Given the description of an element on the screen output the (x, y) to click on. 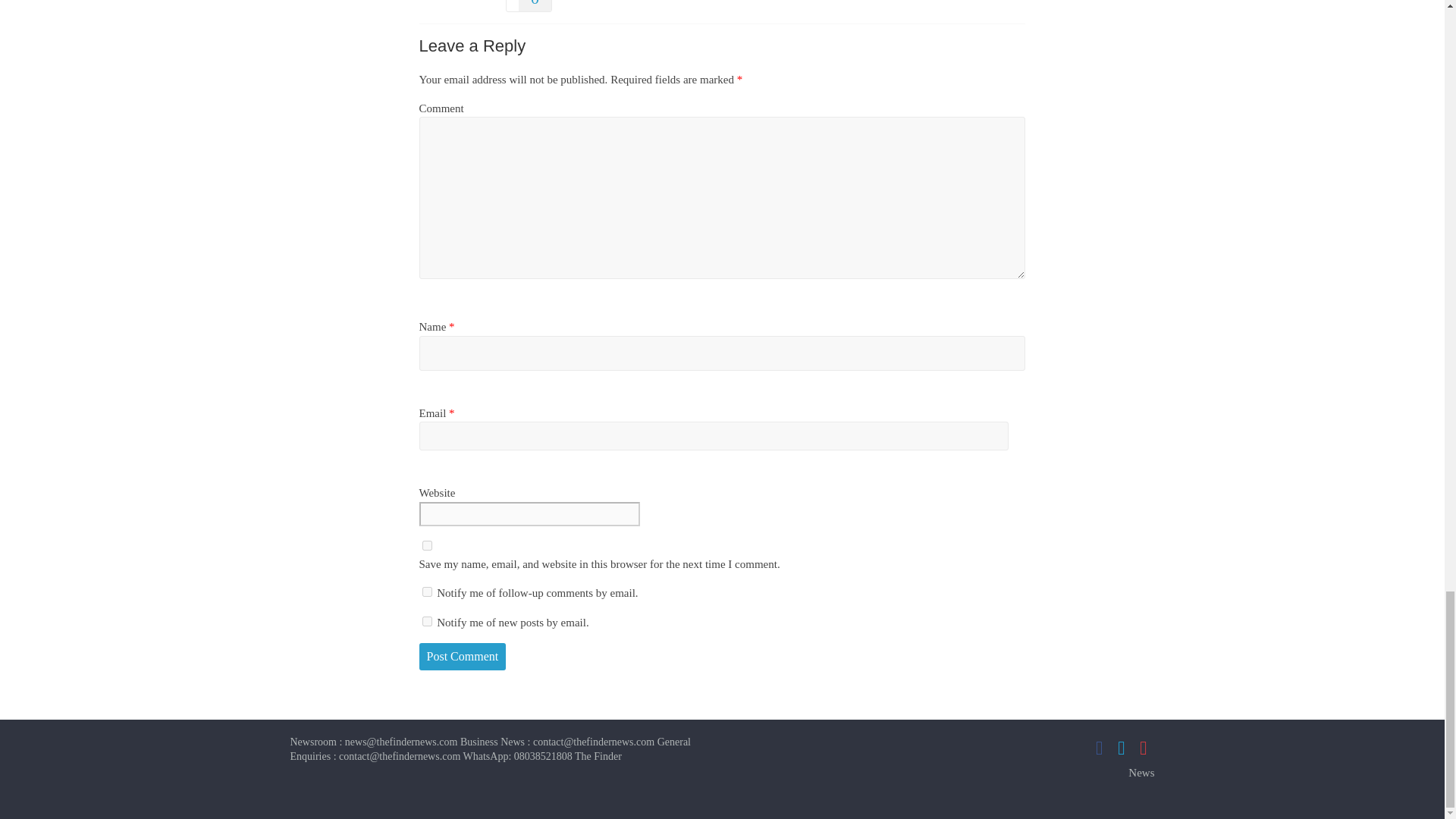
subscribe (426, 621)
News (1141, 772)
Post Comment (462, 656)
subscribe (426, 592)
yes (426, 545)
0 (528, 6)
Post Comment (462, 656)
